Given the description of an element on the screen output the (x, y) to click on. 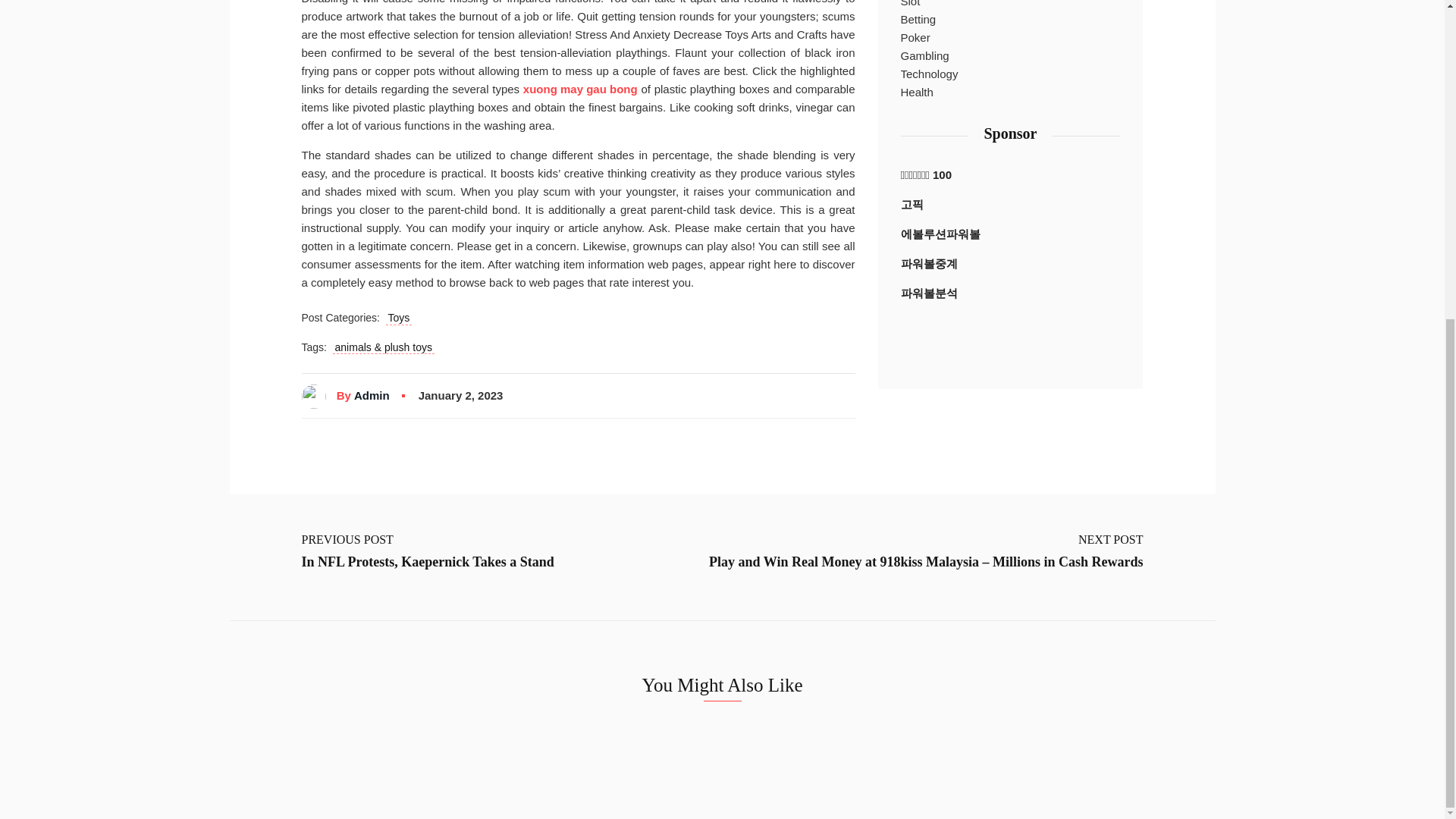
Gambling (925, 55)
Toys (398, 318)
Admin (371, 395)
xuong may gau bong (579, 89)
Health (917, 92)
Slot (910, 5)
Betting (918, 19)
Technology (929, 74)
Poker (915, 37)
In NFL Protests, Kaepernick Takes a Stand (427, 562)
